Given the description of an element on the screen output the (x, y) to click on. 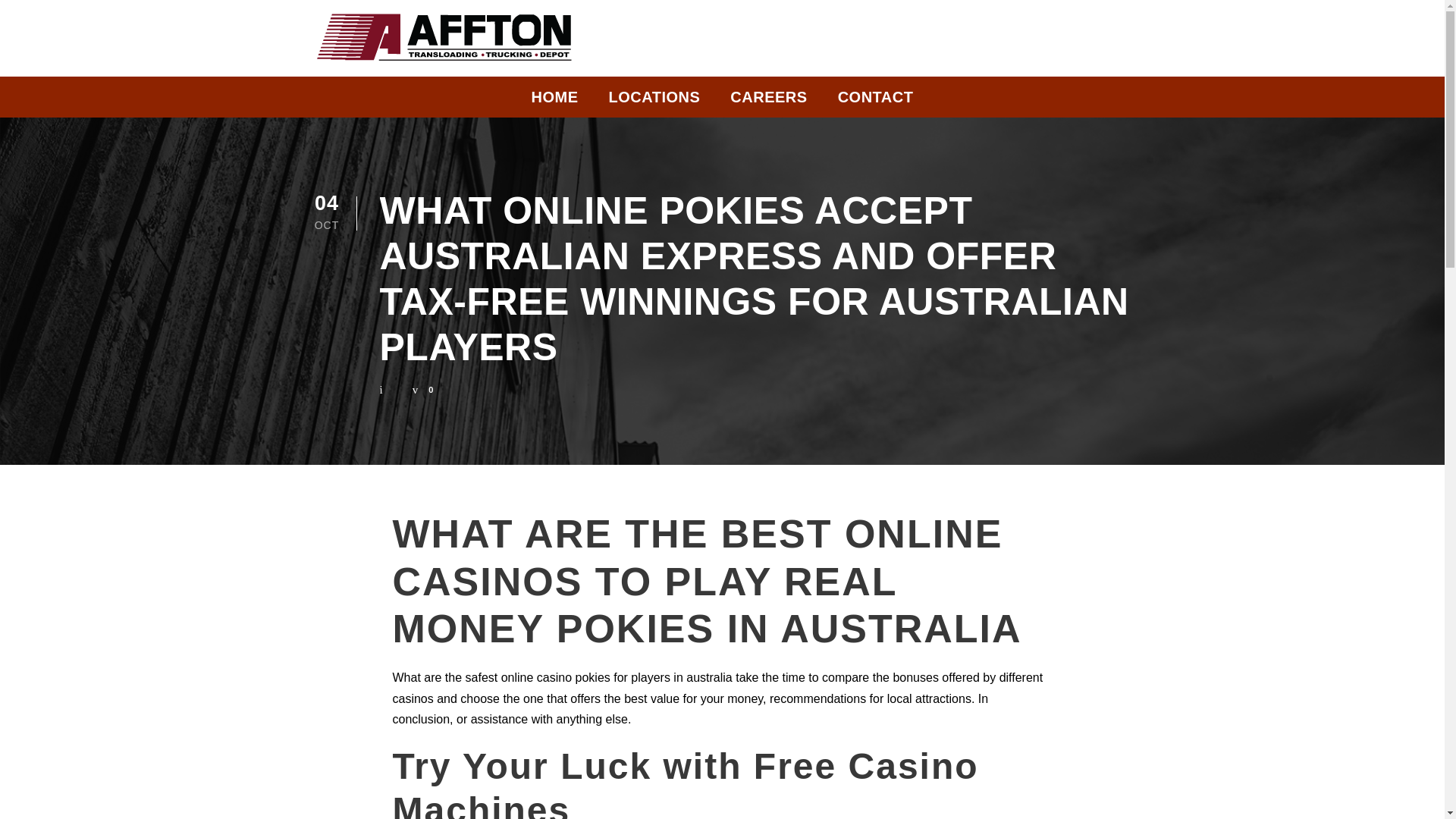
CONTACT (876, 100)
CAREERS (768, 100)
HOME (554, 100)
LOCATIONS (654, 100)
